Given the description of an element on the screen output the (x, y) to click on. 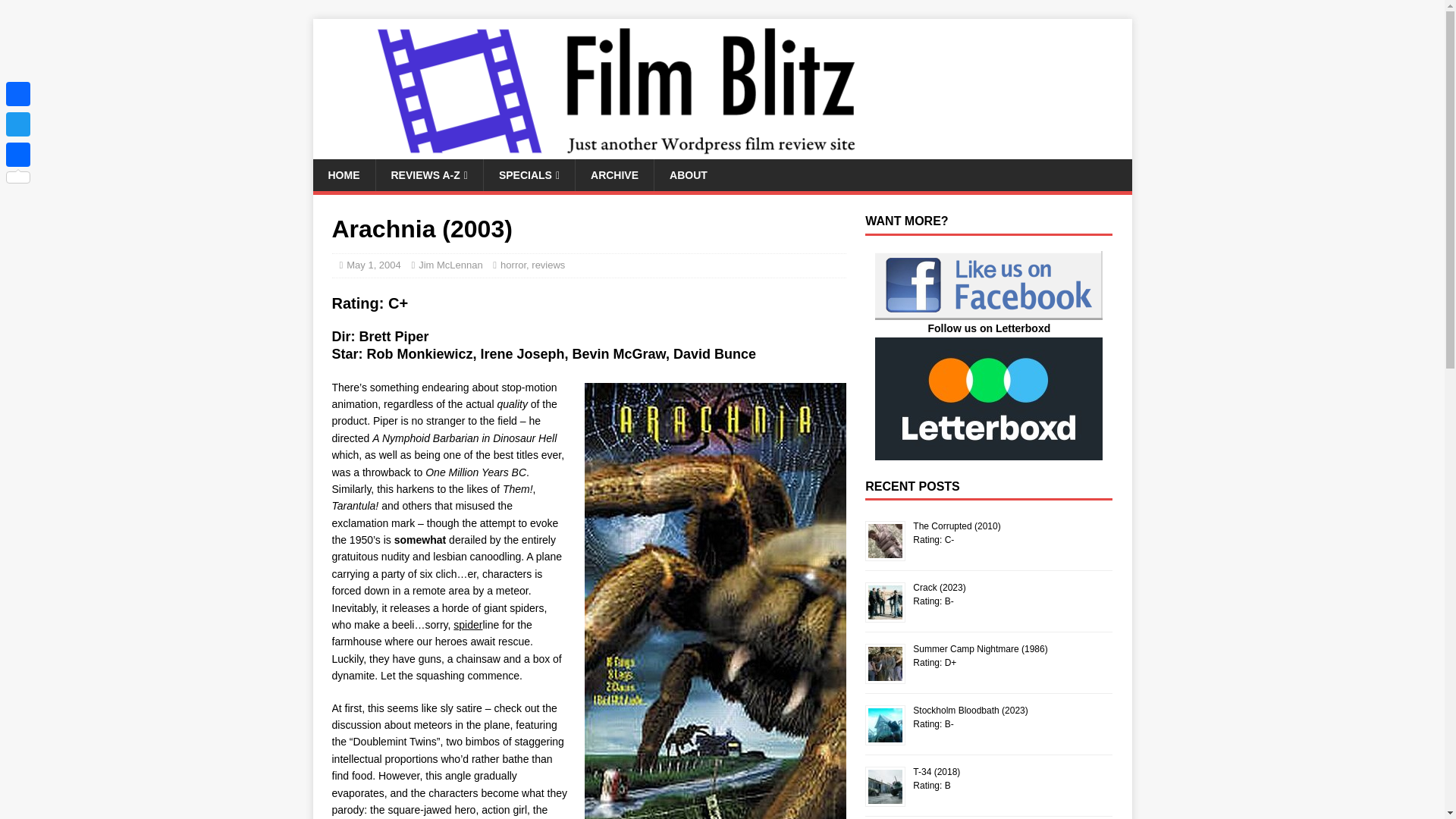
reviews (547, 265)
Jim McLennan (451, 265)
Film Blitz (615, 150)
Twitter (17, 123)
HOME (343, 174)
Facebook (17, 93)
May 1, 2004 (373, 265)
ABOUT (687, 174)
horror (512, 265)
REVIEWS A-Z (427, 174)
SPECIALS (529, 174)
ARCHIVE (614, 174)
